Given the description of an element on the screen output the (x, y) to click on. 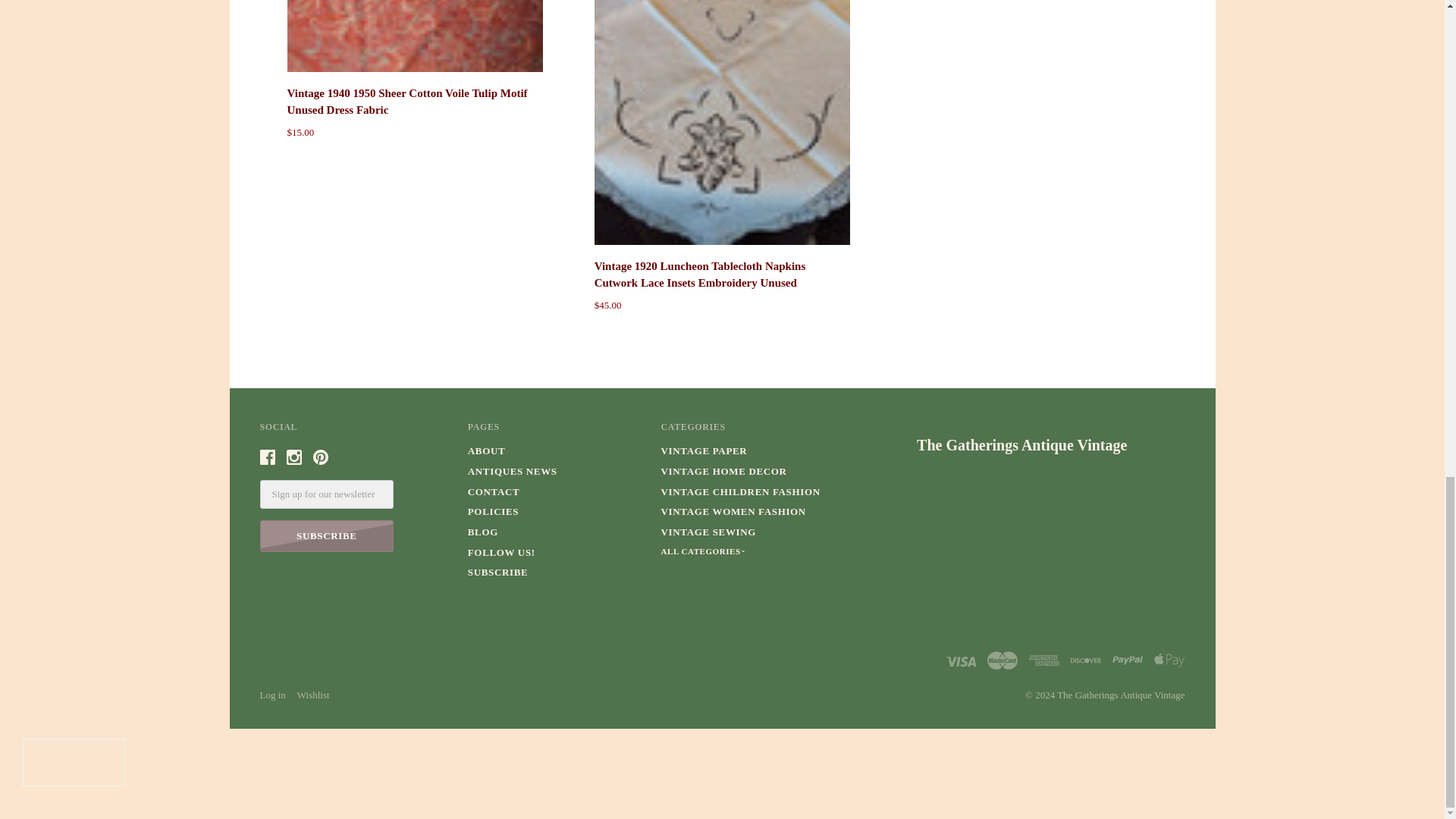
Subscribe (326, 536)
